Given the description of an element on the screen output the (x, y) to click on. 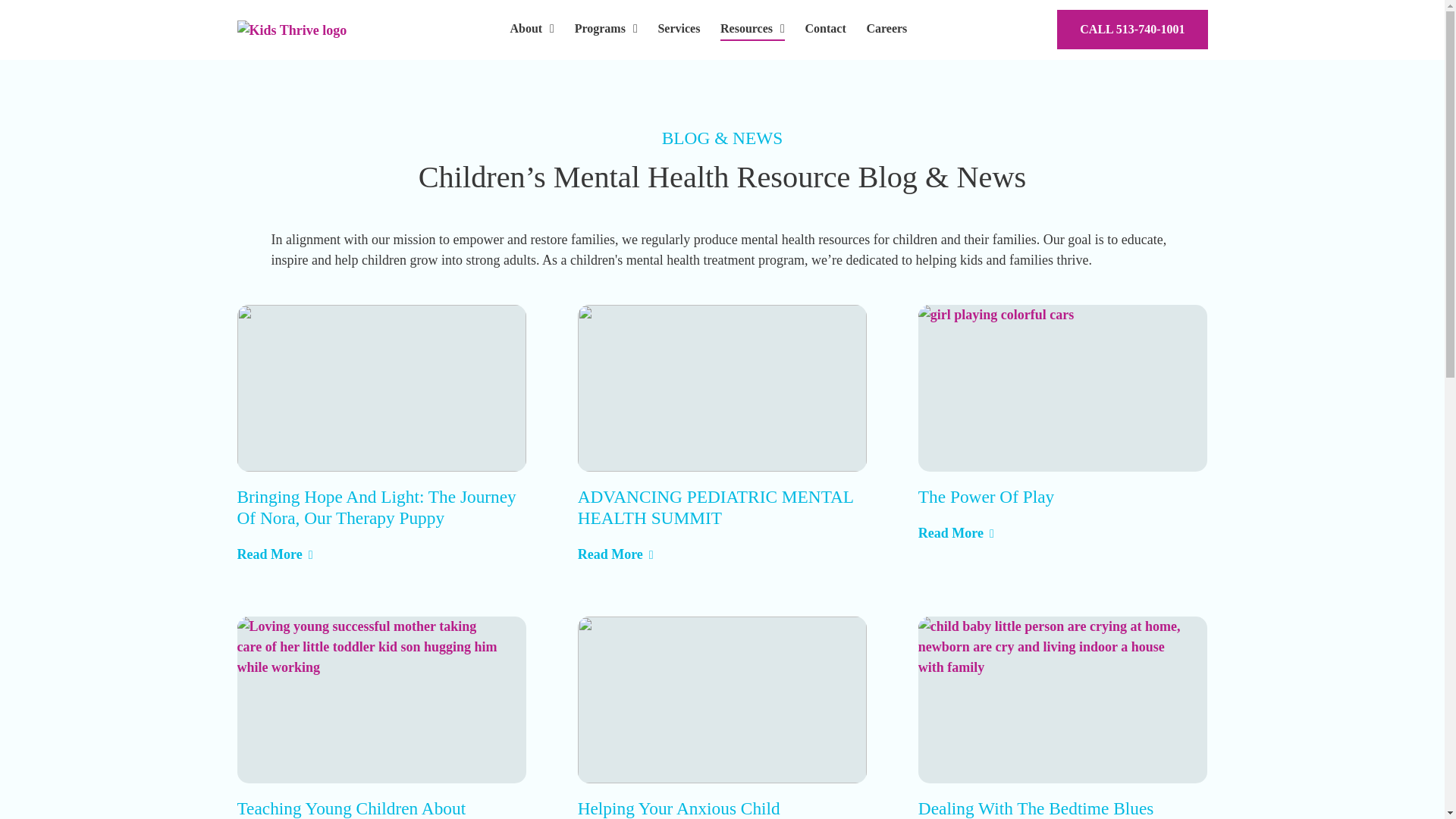
ADVANCING PEDIATRIC MENTAL HEALTH SUMMIT (715, 506)
Programs (600, 28)
Go To Homepage (297, 29)
The Power of Play (1063, 387)
The Power of Play (956, 533)
The Power of Play (986, 496)
Helping Your Anxious Child (722, 699)
Teaching Young Children about Body Safety (380, 699)
